Given the description of an element on the screen output the (x, y) to click on. 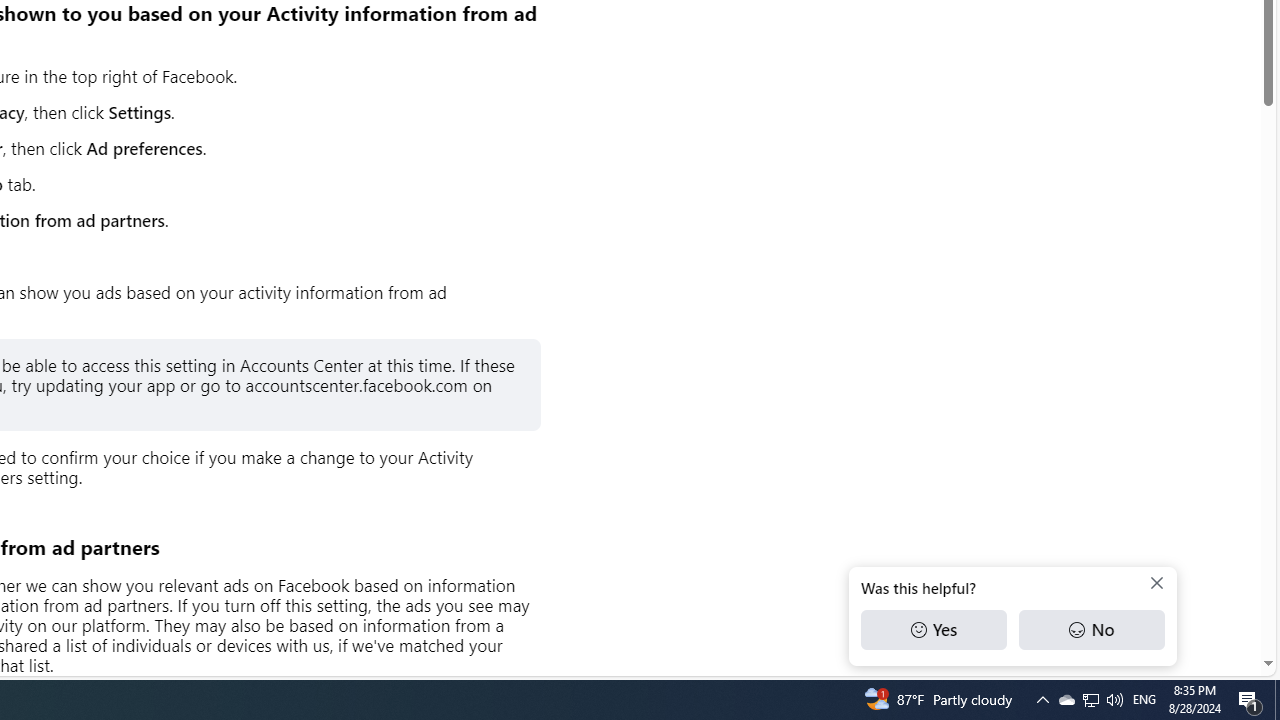
Dismiss (1156, 583)
Yes (934, 629)
No (1091, 629)
